Given the description of an element on the screen output the (x, y) to click on. 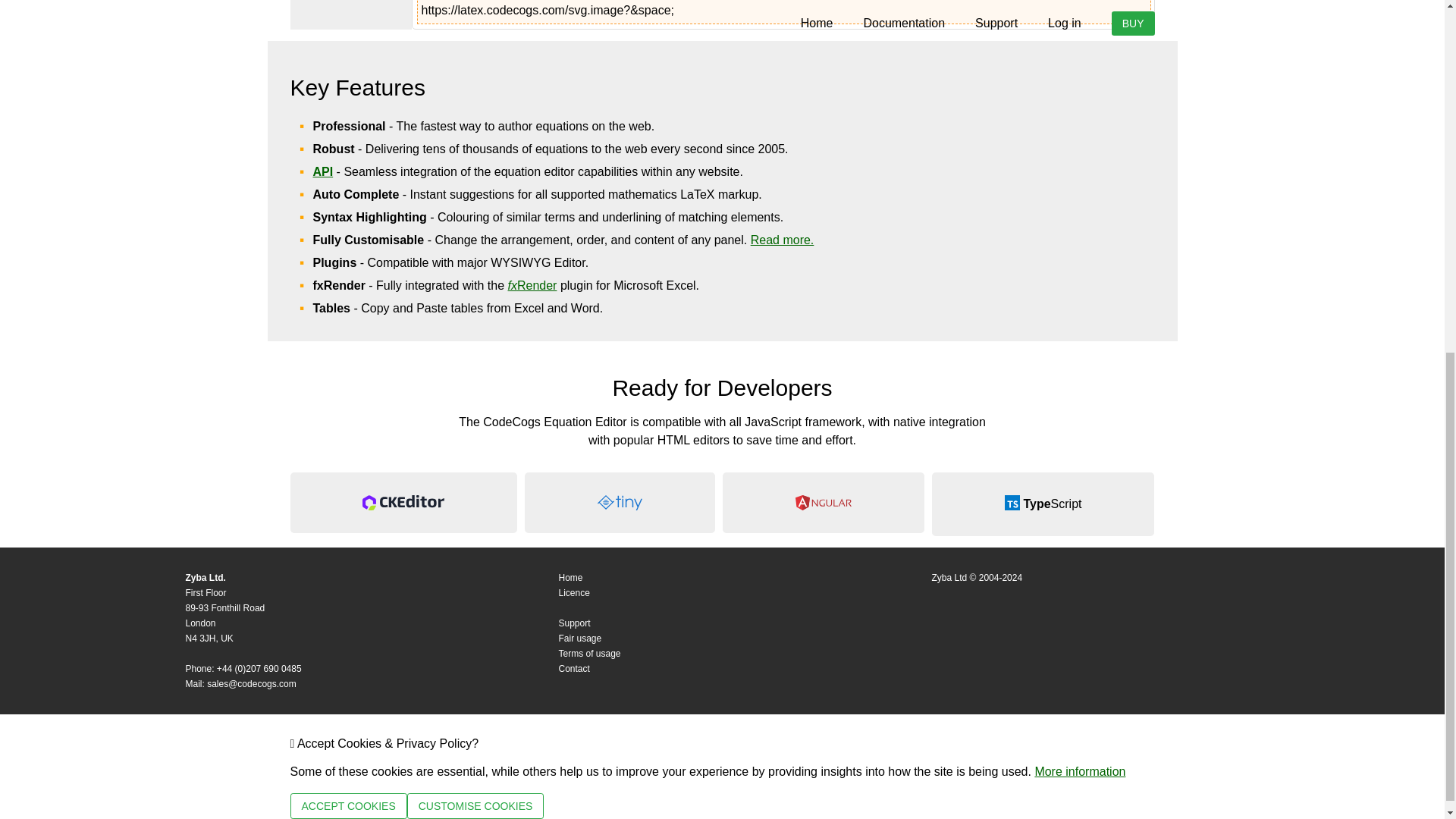
Read more. (782, 239)
Contact (573, 668)
Terms of usage (588, 653)
fxRender (532, 285)
API (323, 171)
Support (573, 623)
More information (1079, 771)
Fair usage (579, 638)
Home (569, 577)
Licence (573, 593)
